Given the description of an element on the screen output the (x, y) to click on. 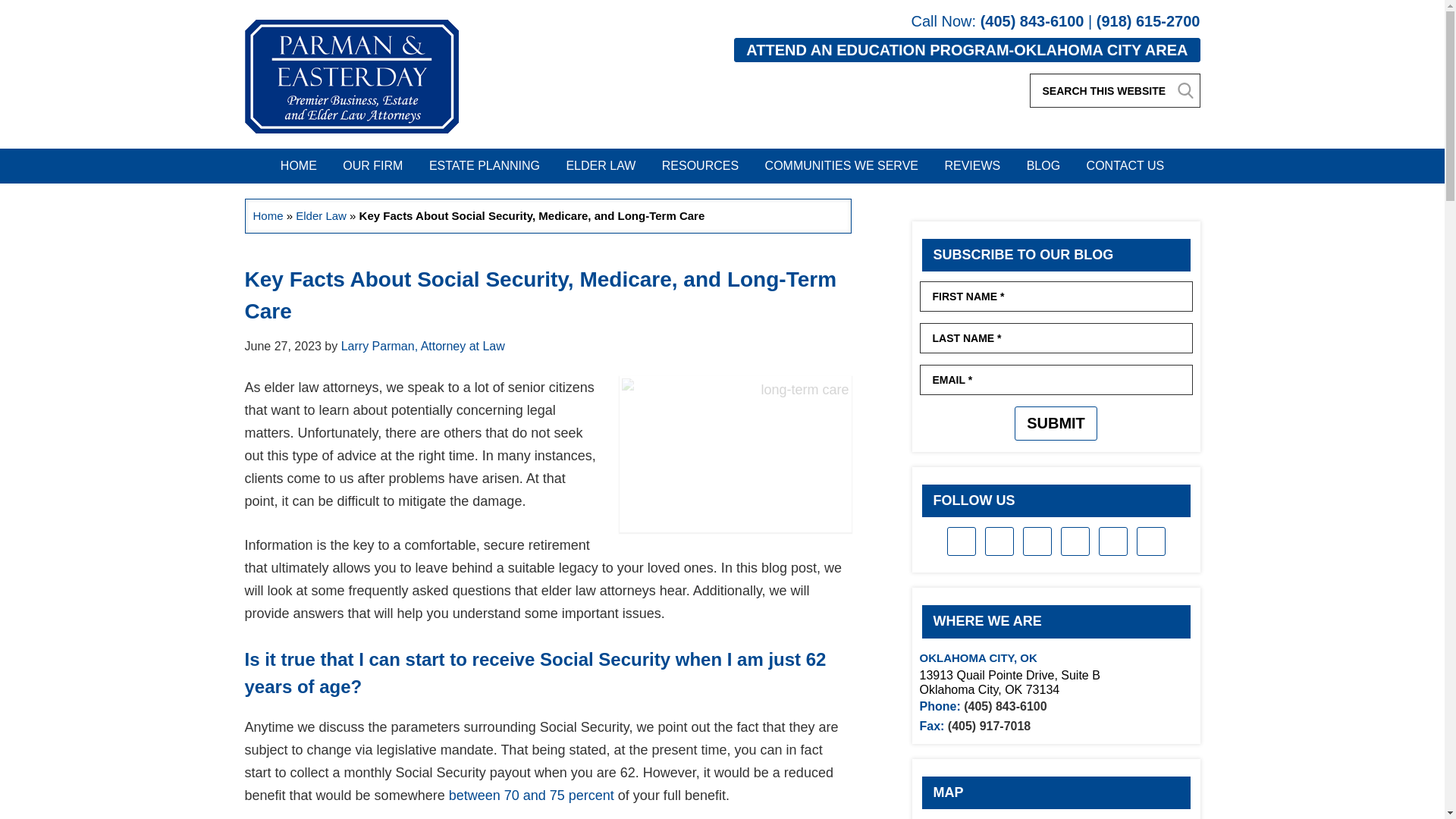
ELDER LAW (600, 165)
Search (1184, 90)
Search (1184, 90)
OUR FIRM (372, 165)
Search (1184, 90)
ESTATE PLANNING (484, 165)
ATTEND AN EDUCATION PROGRAM-OKLAHOMA CITY AREA (966, 49)
HOME (299, 165)
RESOURCES (699, 165)
